Given the description of an element on the screen output the (x, y) to click on. 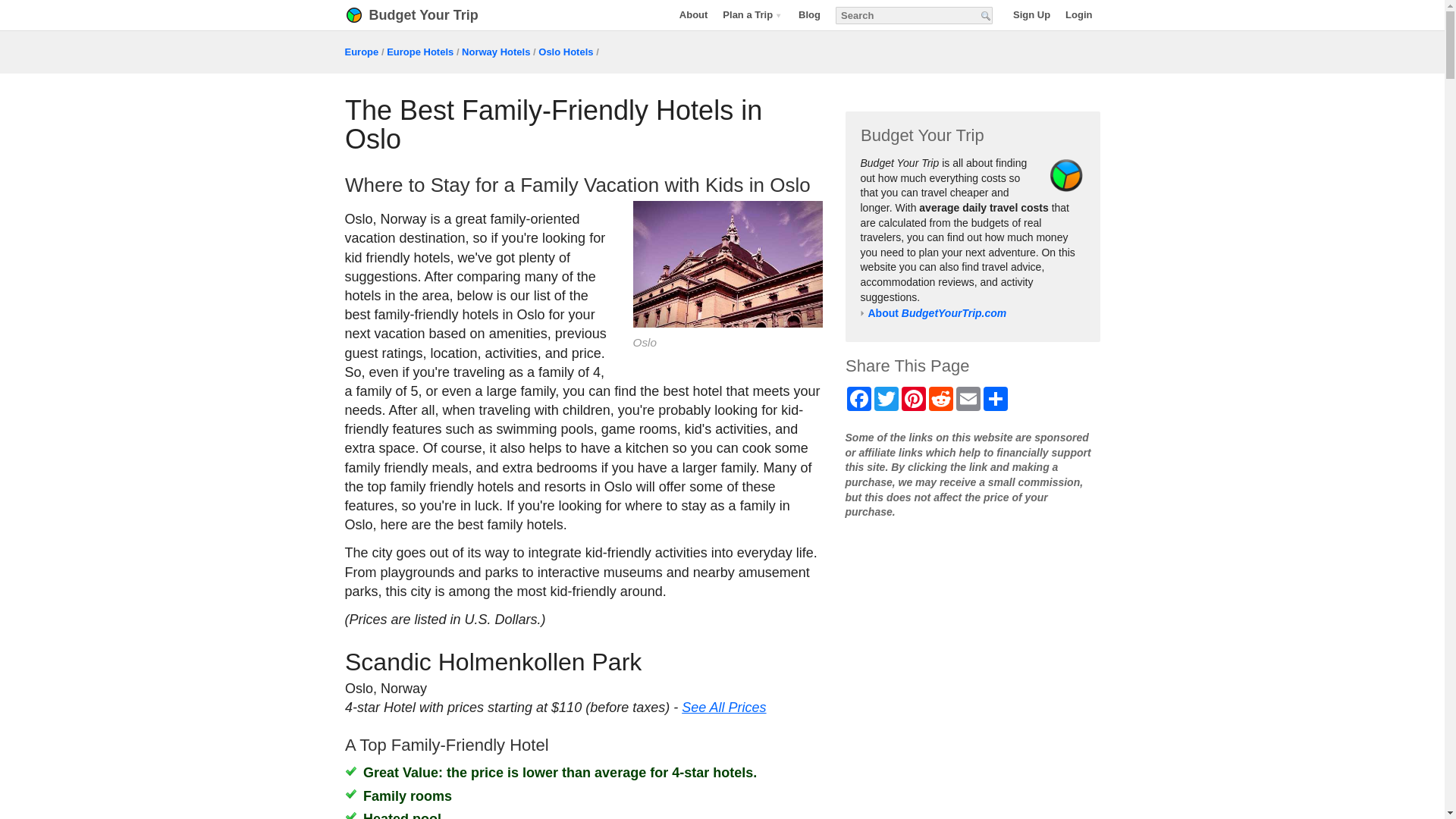
Europe (360, 51)
Login (1078, 14)
Europe Hotels (419, 51)
Oslo Hotels (565, 51)
Blog (809, 14)
Norway Hotels (495, 51)
Plan a Trip (752, 14)
Budget Your Trip (431, 14)
About (693, 14)
Sign Up (1031, 14)
